Given the description of an element on the screen output the (x, y) to click on. 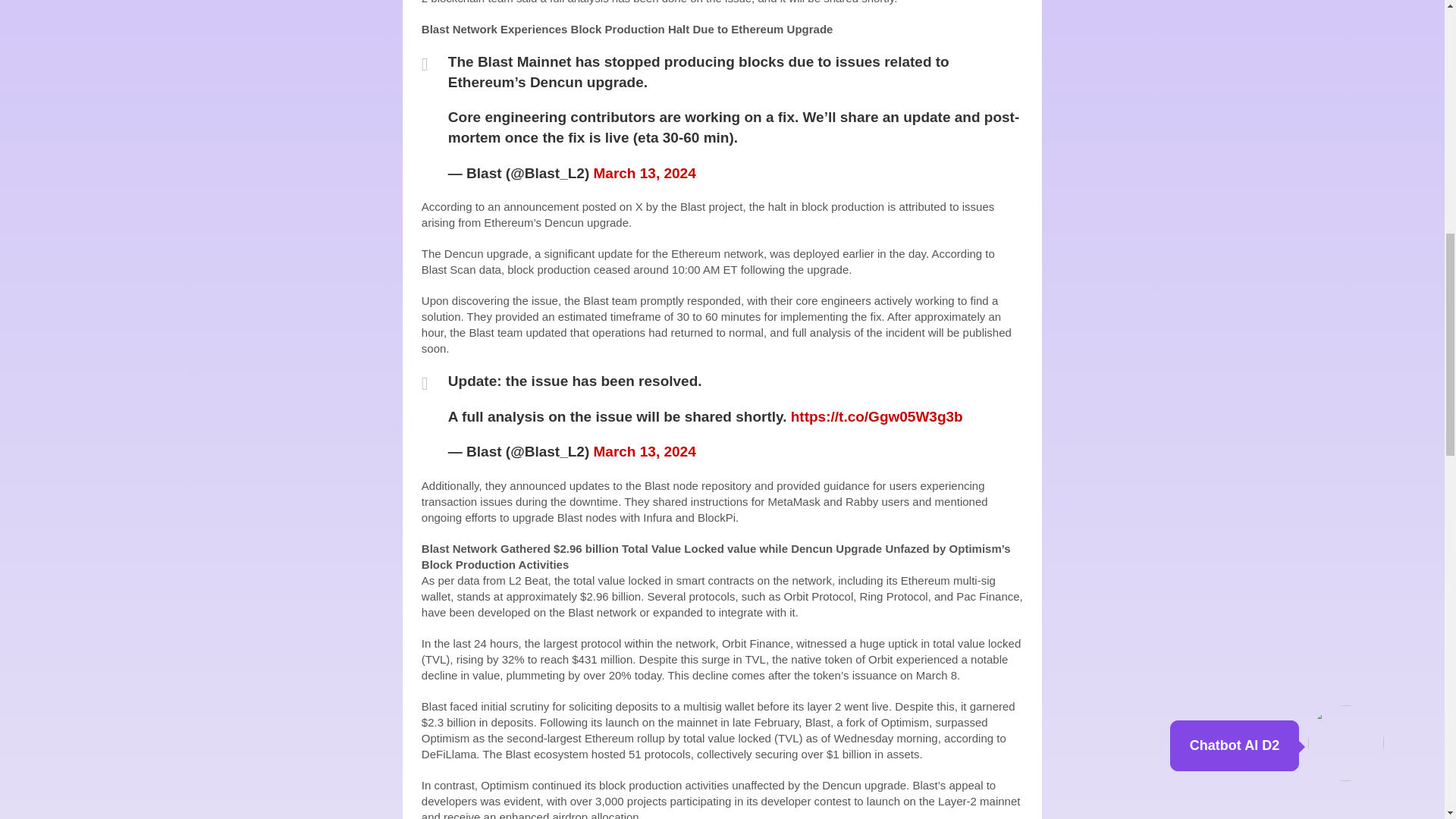
March 13, 2024 (644, 172)
March 13, 2024 (644, 451)
